Given the description of an element on the screen output the (x, y) to click on. 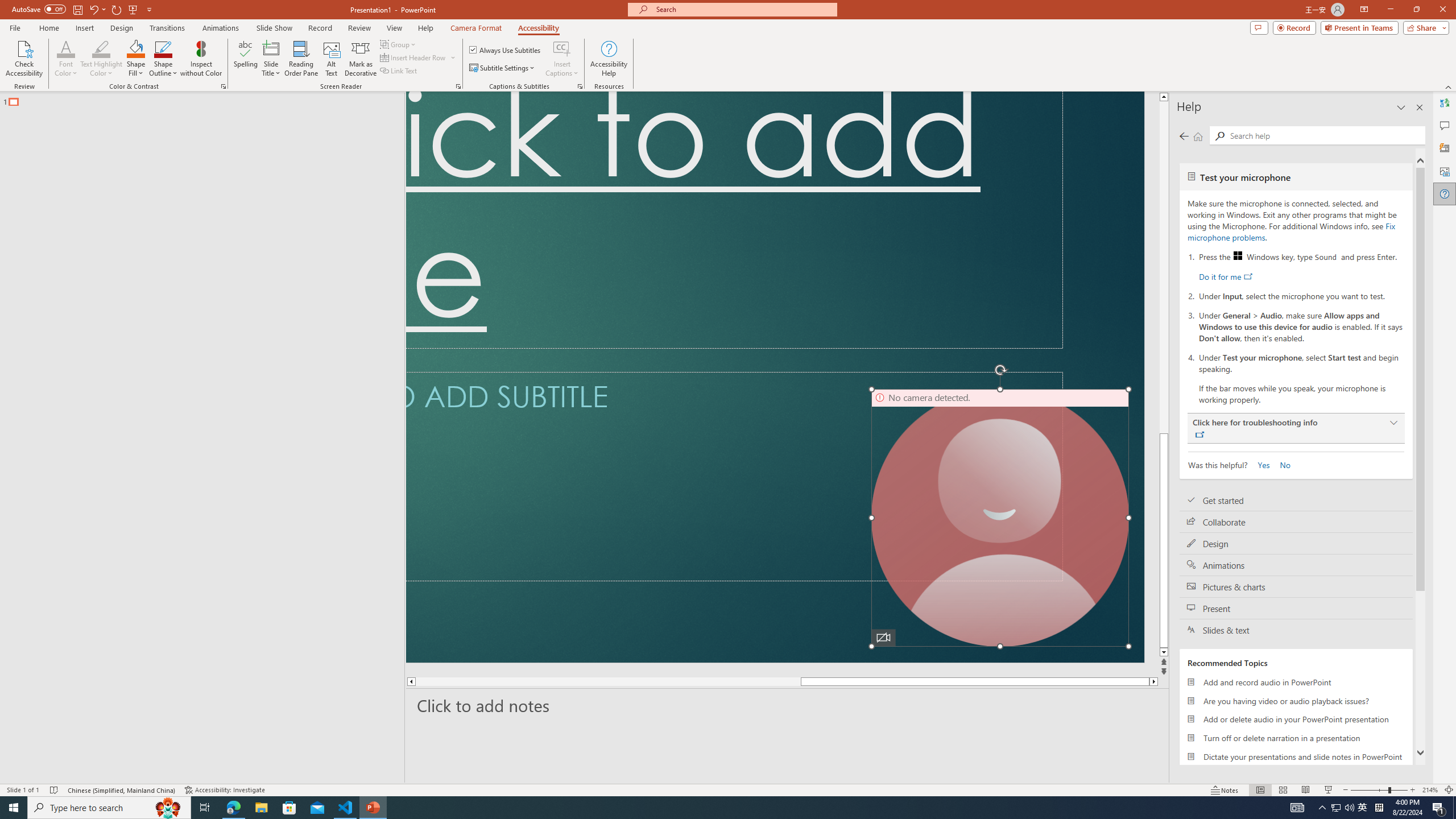
Fix microphone problems (1291, 231)
Yes (1260, 464)
Screen Reader (458, 85)
